Given the description of an element on the screen output the (x, y) to click on. 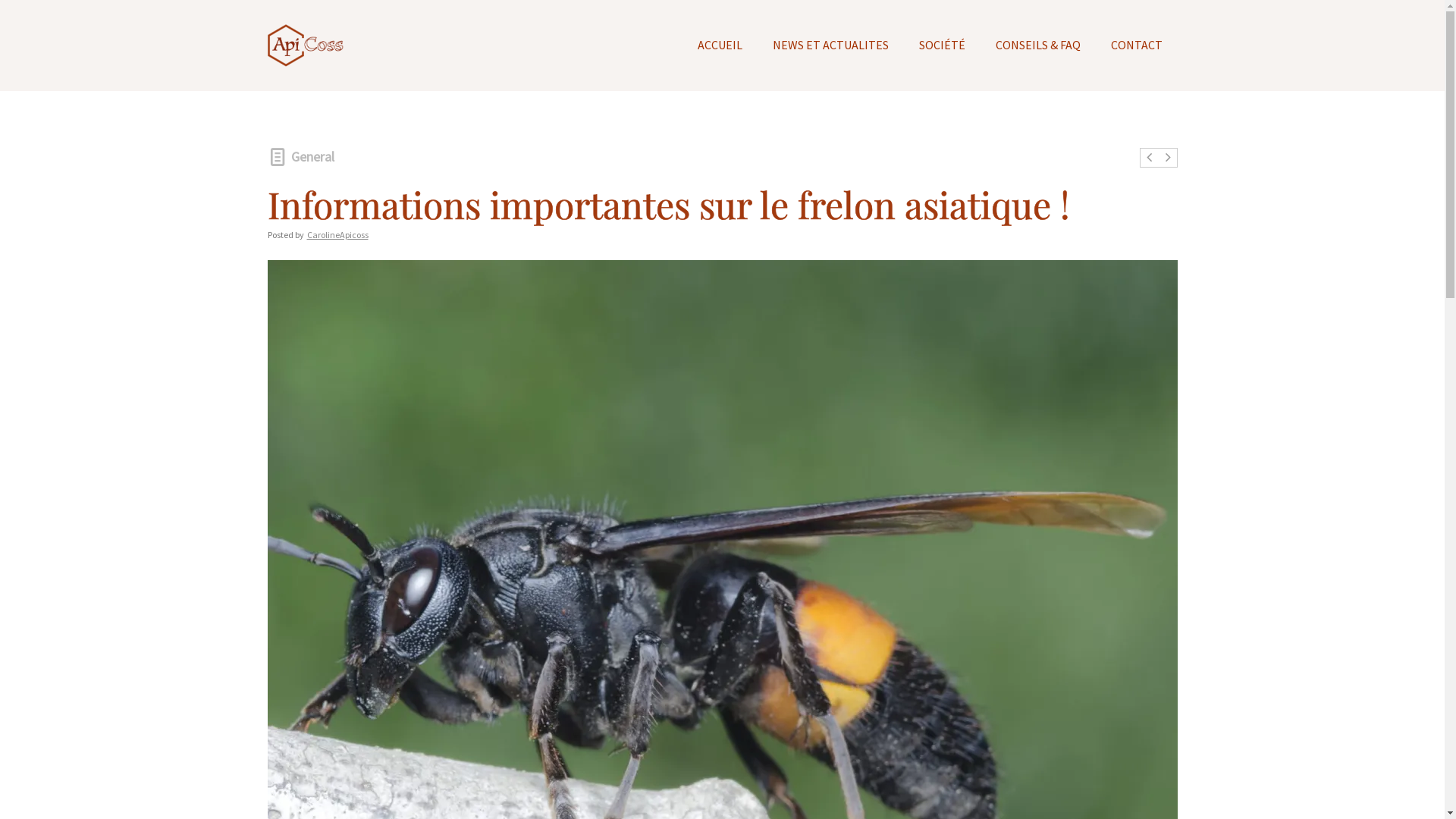
CarolineApicoss Element type: text (336, 234)
NEWS ET ACTUALITES Element type: text (829, 48)
CONSEILS & FAQ Element type: text (1037, 48)
CONTACT Element type: text (1135, 48)
ACCUEIL Element type: text (719, 48)
Apicoss Element type: hover (304, 45)
